Given the description of an element on the screen output the (x, y) to click on. 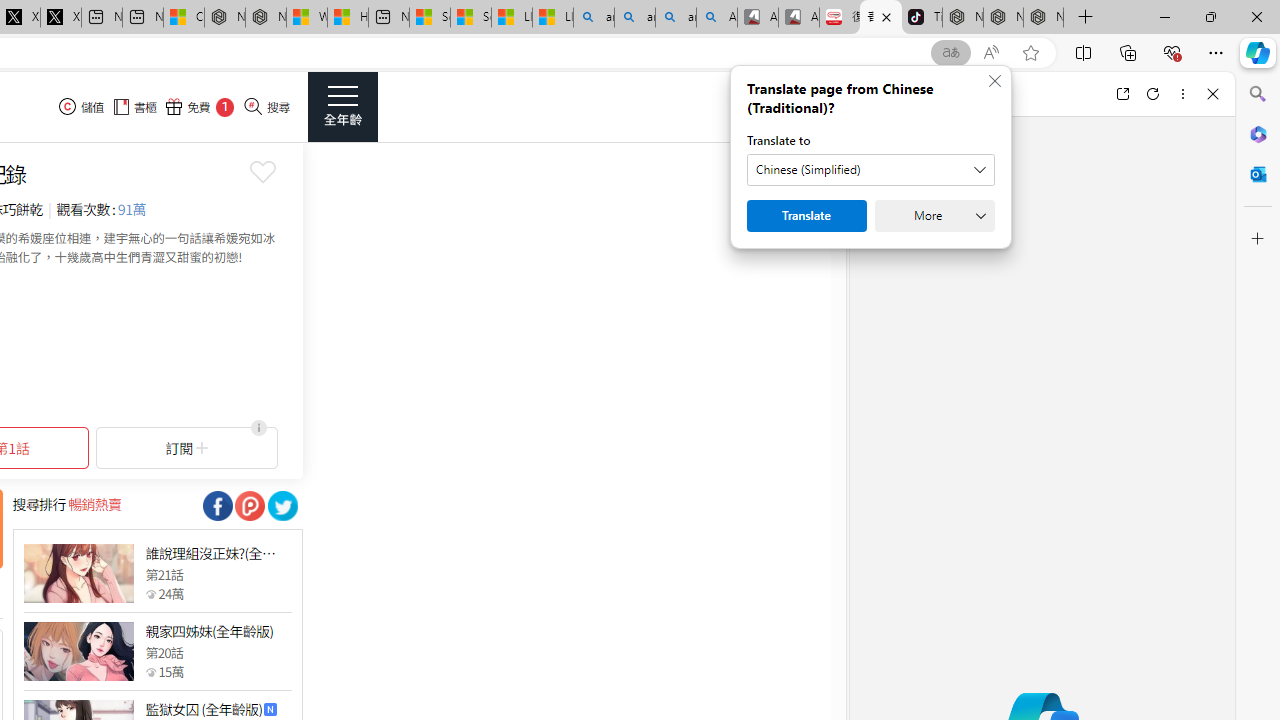
Class: epicon_starpoint (150, 671)
Nordace - Best Sellers (963, 17)
Microsoft 365 (1258, 133)
More (934, 215)
Compose (971, 93)
